Given the description of an element on the screen output the (x, y) to click on. 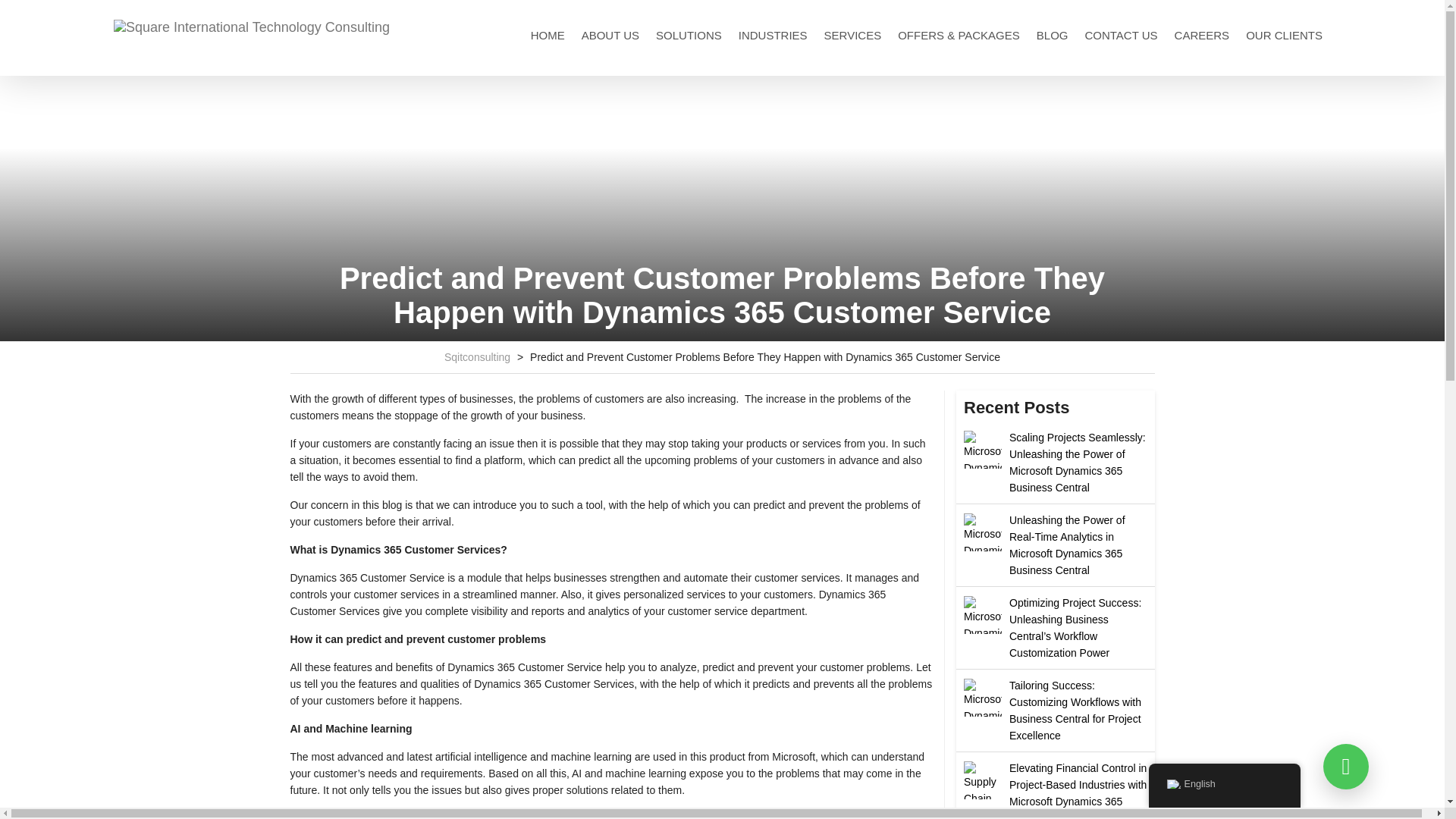
INDUSTRIES (772, 35)
HOME (547, 35)
English (1172, 783)
SERVICES (852, 35)
Go to Sqitconsulting. (477, 357)
ABOUT US (609, 35)
SOLUTIONS (688, 35)
